Given the description of an element on the screen output the (x, y) to click on. 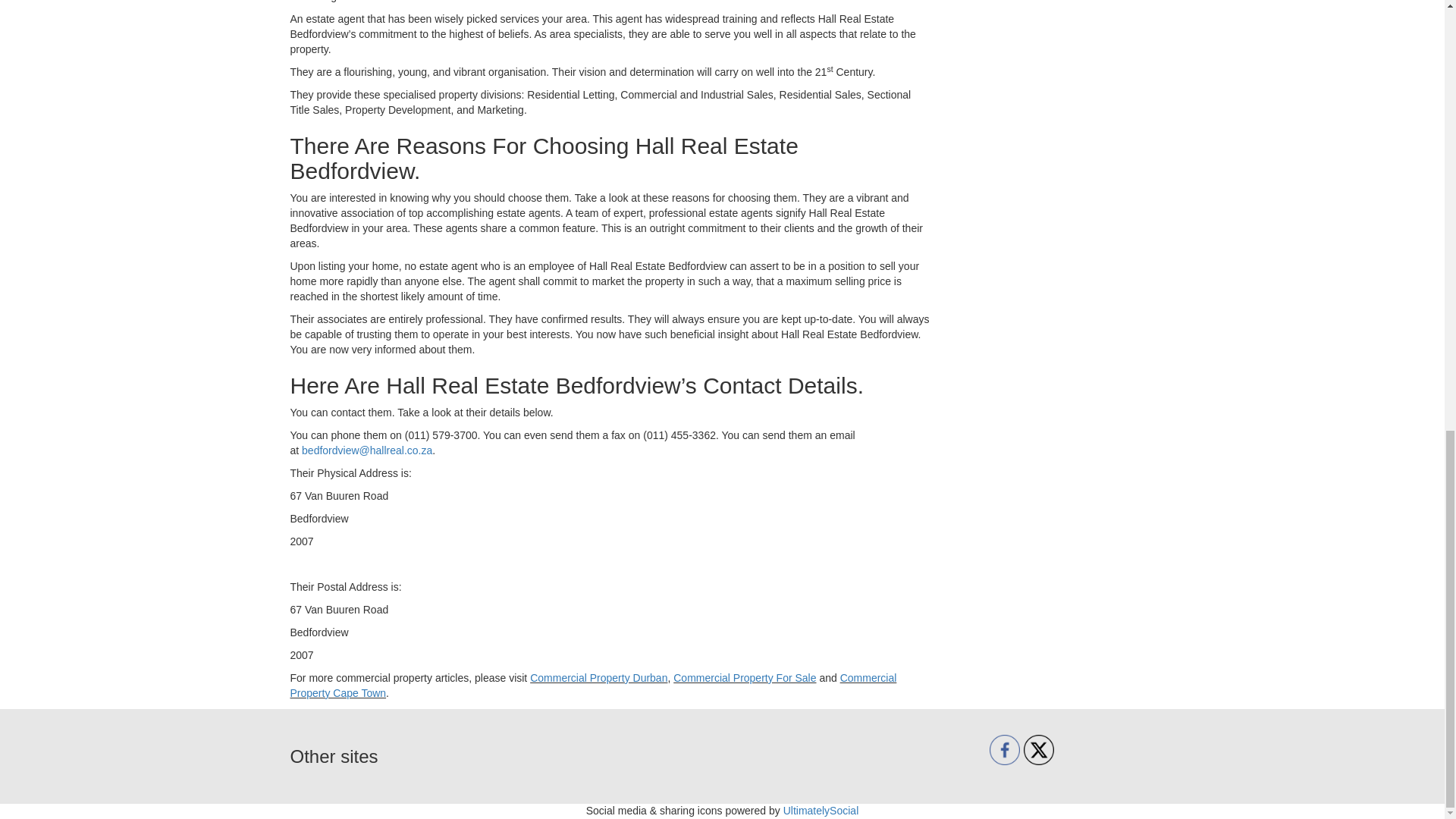
Twitter (1038, 749)
Commercial Property Durban (597, 677)
UltimatelySocial (821, 810)
Commercial Property Cape Town (592, 685)
Facebook (1005, 749)
Commercial Property For Sale (743, 677)
